Given the description of an element on the screen output the (x, y) to click on. 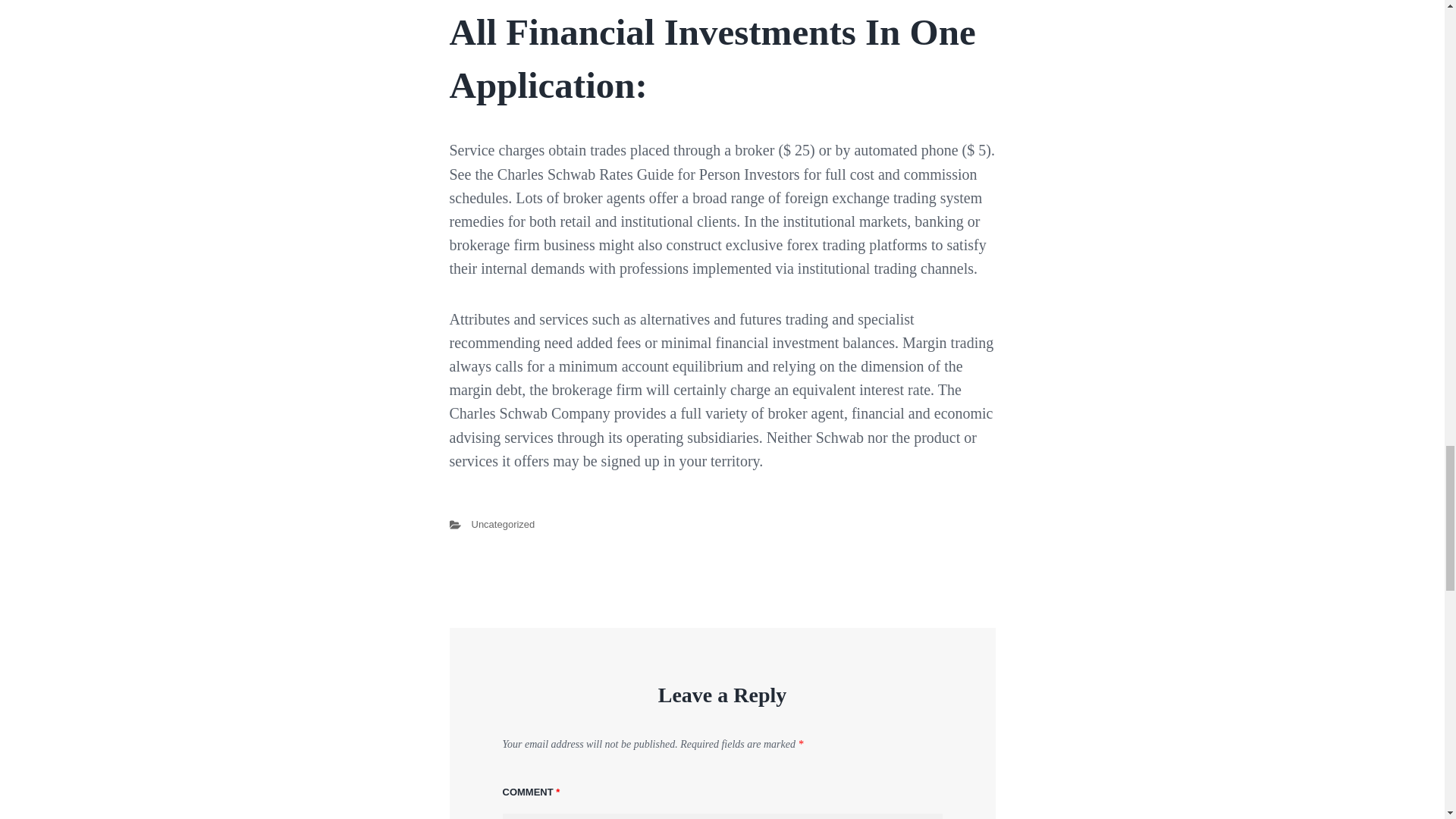
Uncategorized (503, 523)
